Given the description of an element on the screen output the (x, y) to click on. 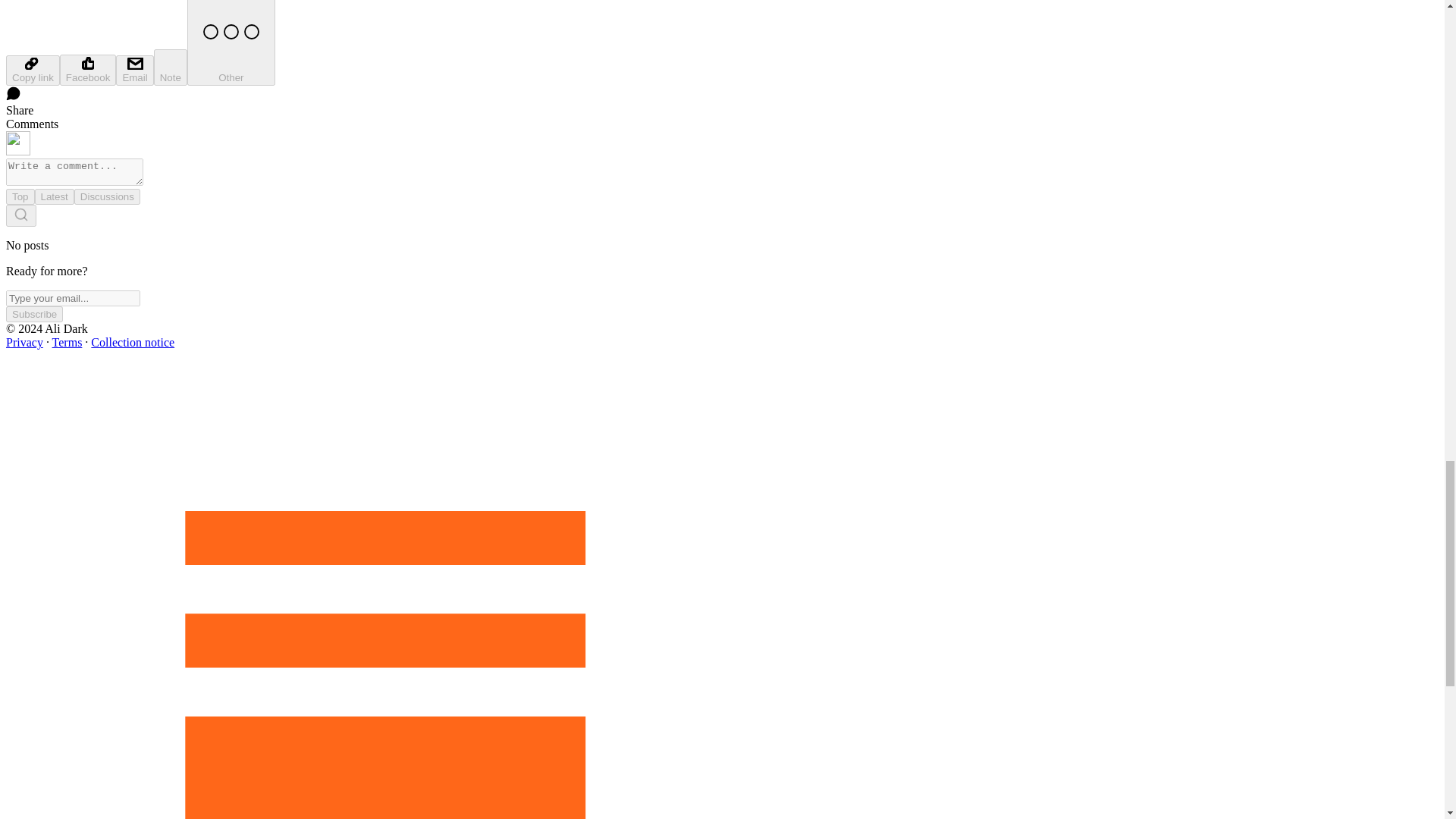
Privacy (24, 341)
Subscribe (33, 314)
Facebook (87, 69)
Latest (54, 196)
Discussions (106, 196)
Top (19, 196)
Email (134, 70)
Copy link (32, 70)
Other (231, 42)
Note (170, 67)
